Given the description of an element on the screen output the (x, y) to click on. 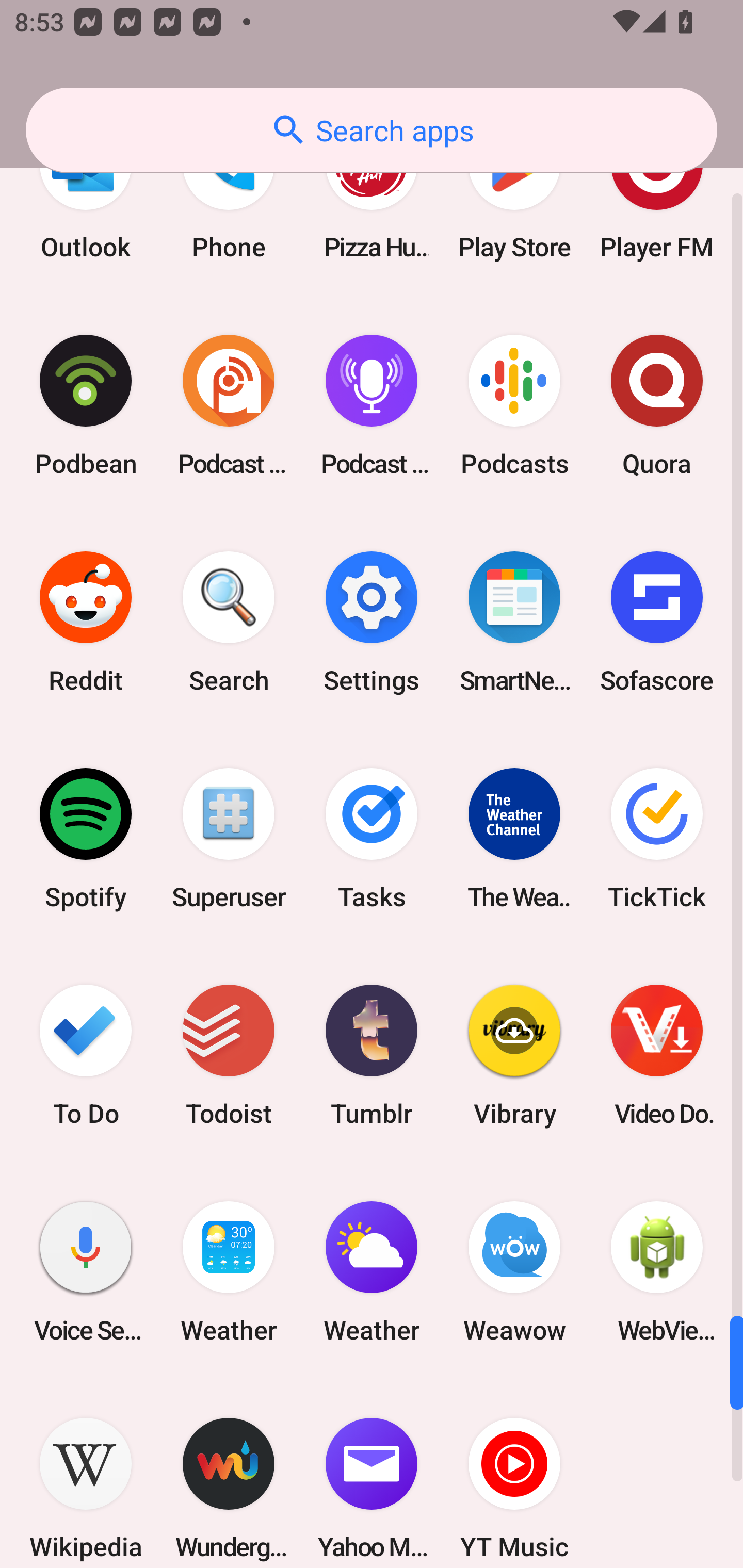
  Search apps (371, 130)
Outlook (85, 199)
Phone (228, 199)
Pizza Hut HK & Macau (371, 199)
Play Store (514, 199)
Player FM (656, 199)
Podbean (85, 405)
Podcast Addict (228, 405)
Podcast Player (371, 405)
Podcasts (514, 405)
Quora (656, 405)
Reddit (85, 622)
Search (228, 622)
Settings (371, 622)
SmartNews (514, 622)
Sofascore (656, 622)
Spotify (85, 838)
Superuser (228, 838)
Tasks (371, 838)
The Weather Channel (514, 838)
TickTick (656, 838)
To Do (85, 1055)
Todoist (228, 1055)
Tumblr (371, 1055)
Vibrary (514, 1055)
Video Downloader & Ace Player (656, 1055)
Voice Search (85, 1271)
Weather (228, 1271)
Weather (371, 1271)
Weawow (514, 1271)
WebView Browser Tester (656, 1271)
Wikipedia (85, 1473)
Wunderground (228, 1473)
Yahoo Mail (371, 1473)
YT Music (514, 1473)
